Given the description of an element on the screen output the (x, y) to click on. 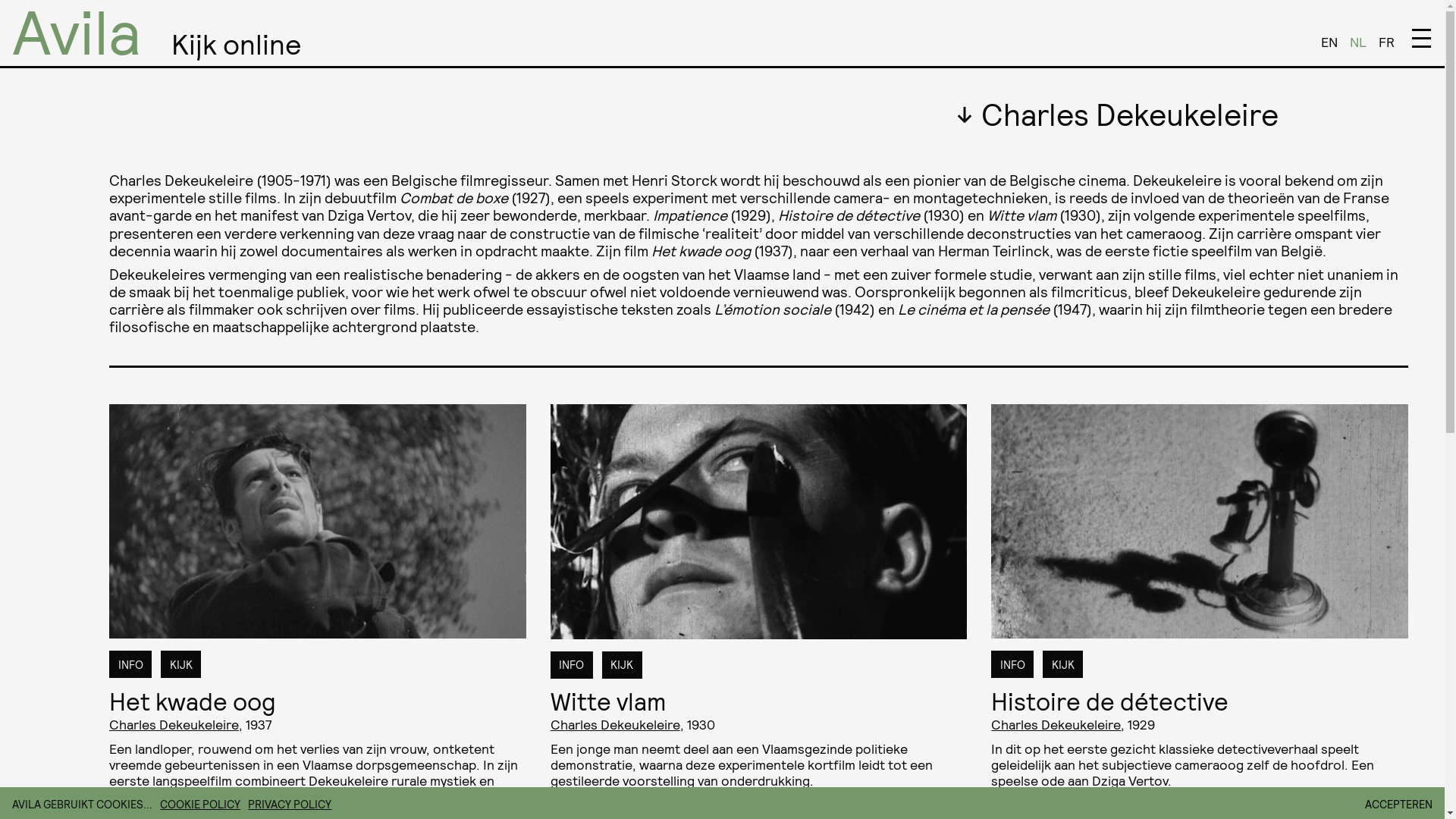
NL Element type: text (1357, 41)
Charles Dekeukeleire Element type: text (1055, 723)
INFO Element type: text (1012, 663)
PRIVACY POLICY Element type: text (286, 803)
ACCEPTEREN Element type: text (1398, 804)
Avila Element type: text (76, 30)
Witte vlam Element type: text (607, 700)
INFO Element type: text (130, 663)
Kijk online Element type: text (236, 43)
Charles Dekeukeleire Element type: text (173, 723)
EN Element type: text (1328, 41)
KIJK Element type: text (1062, 663)
COOKIE POLICY Element type: text (197, 803)
Skip to main content Element type: text (0, 0)
Het kwade oog Element type: text (192, 700)
KIJK Element type: text (180, 663)
INFO Element type: text (571, 664)
FR Element type: text (1386, 41)
KIJK Element type: text (622, 664)
Charles Dekeukeleire Element type: text (615, 723)
